Given the description of an element on the screen output the (x, y) to click on. 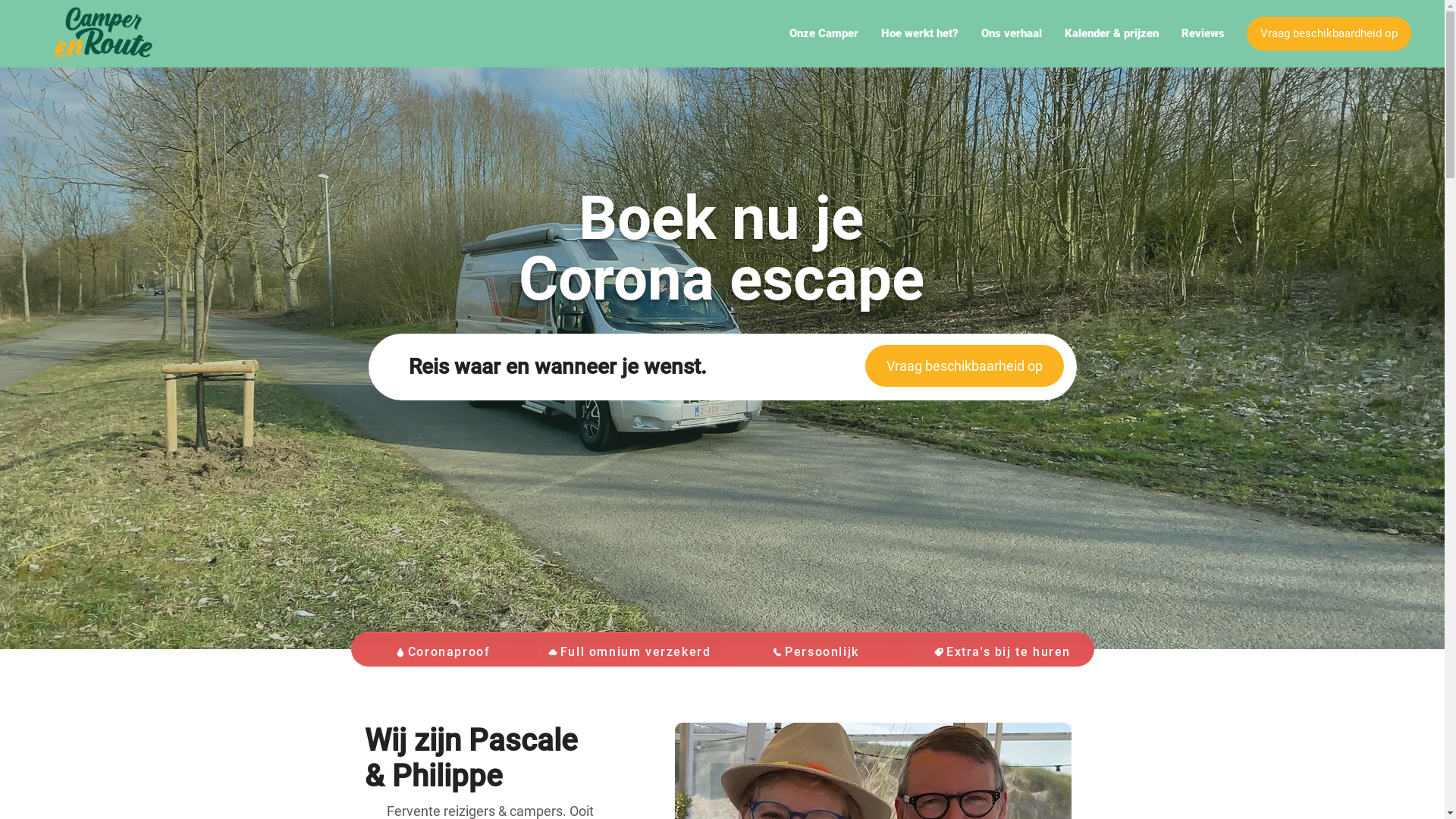
Vraag beschikbaarheid op Element type: text (963, 365)
Vraag beschikbaardheid op Element type: text (1328, 33)
Extra's bij te huren Element type: text (1001, 651)
Ons verhaal Element type: text (1011, 33)
Coronaproof Element type: text (442, 651)
Reviews Element type: text (1203, 33)
Persoonlijk Element type: text (815, 651)
Full omnium verzekerd Element type: text (628, 651)
Hoe werkt het? Element type: text (919, 33)
Onze Camper Element type: text (823, 33)
Kalender & prijzen Element type: text (1111, 33)
